Given the description of an element on the screen output the (x, y) to click on. 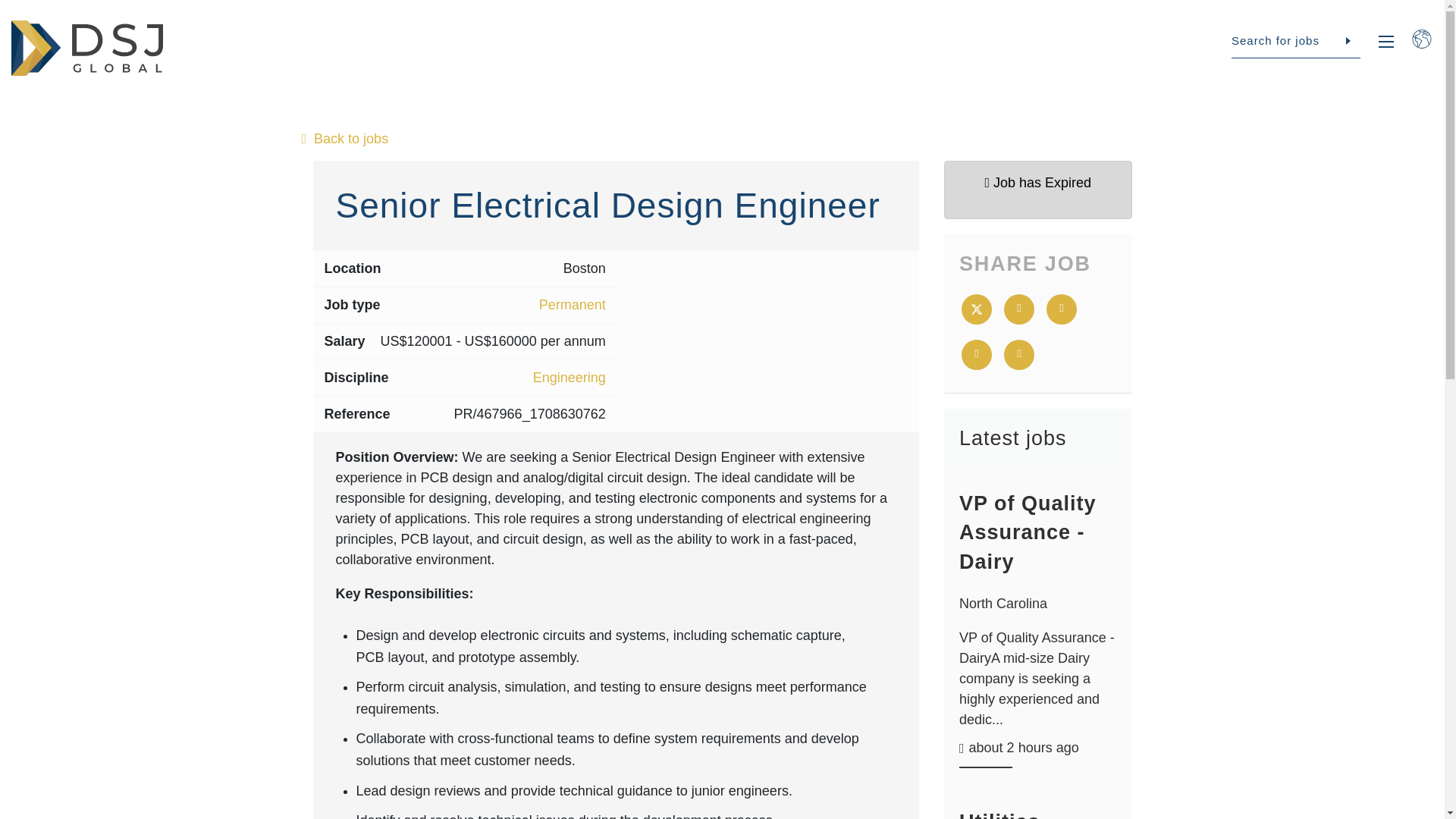
Search for jobs (1295, 41)
DSJ Global HK (87, 47)
Email (975, 354)
Twitter (975, 309)
Facebook (1018, 309)
Back to jobs (721, 138)
Engineering (568, 377)
LinkedIn (1061, 309)
Permanent (571, 304)
Go to the Homepage (87, 47)
